Given the description of an element on the screen output the (x, y) to click on. 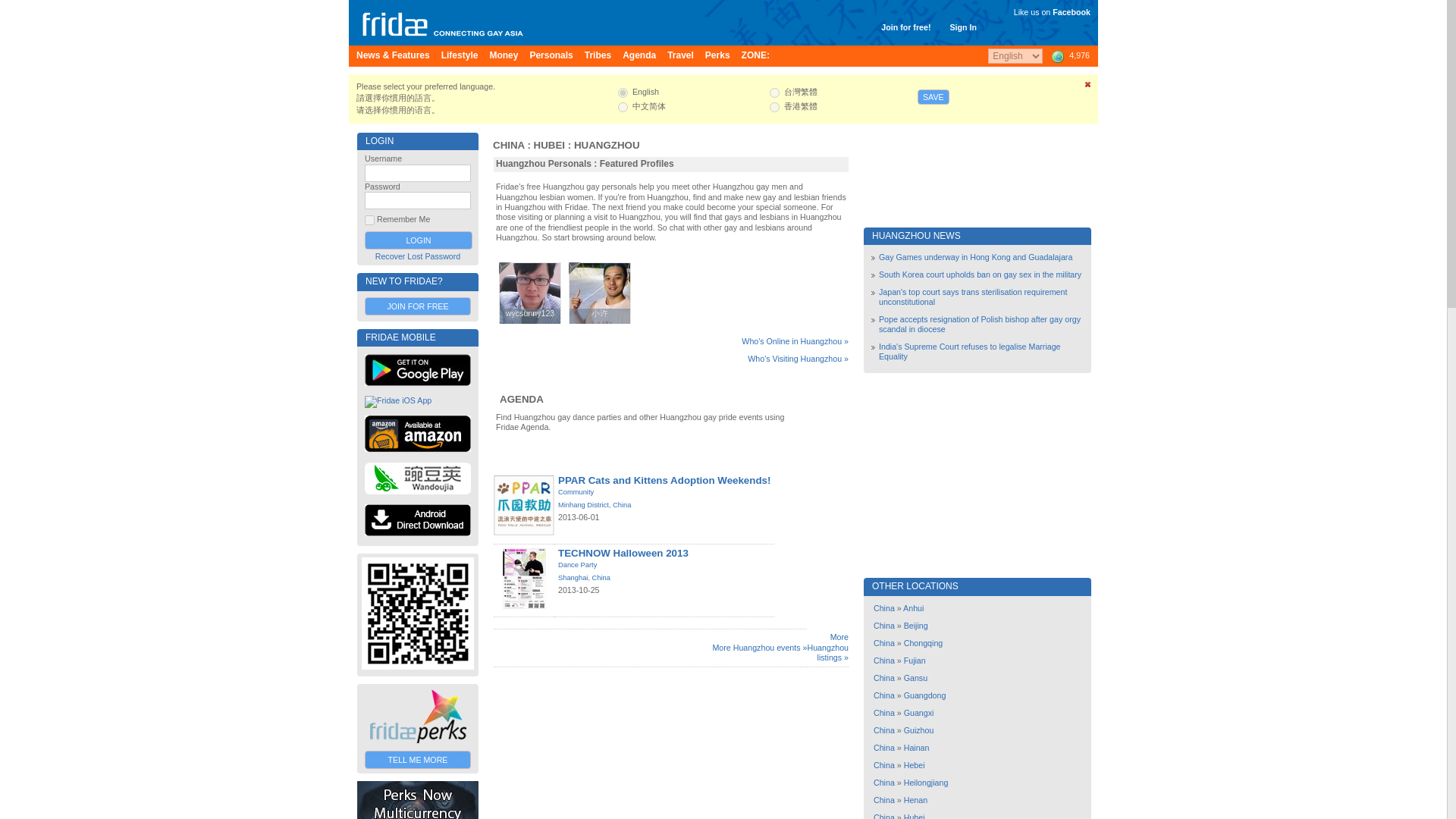
1 (369, 220)
Sign In (962, 26)
Recover Lost Password (418, 256)
Personals (550, 55)
Travel (680, 55)
Join for free! (905, 26)
en (622, 92)
Login (418, 239)
Offline (505, 268)
Login (418, 239)
